Given the description of an element on the screen output the (x, y) to click on. 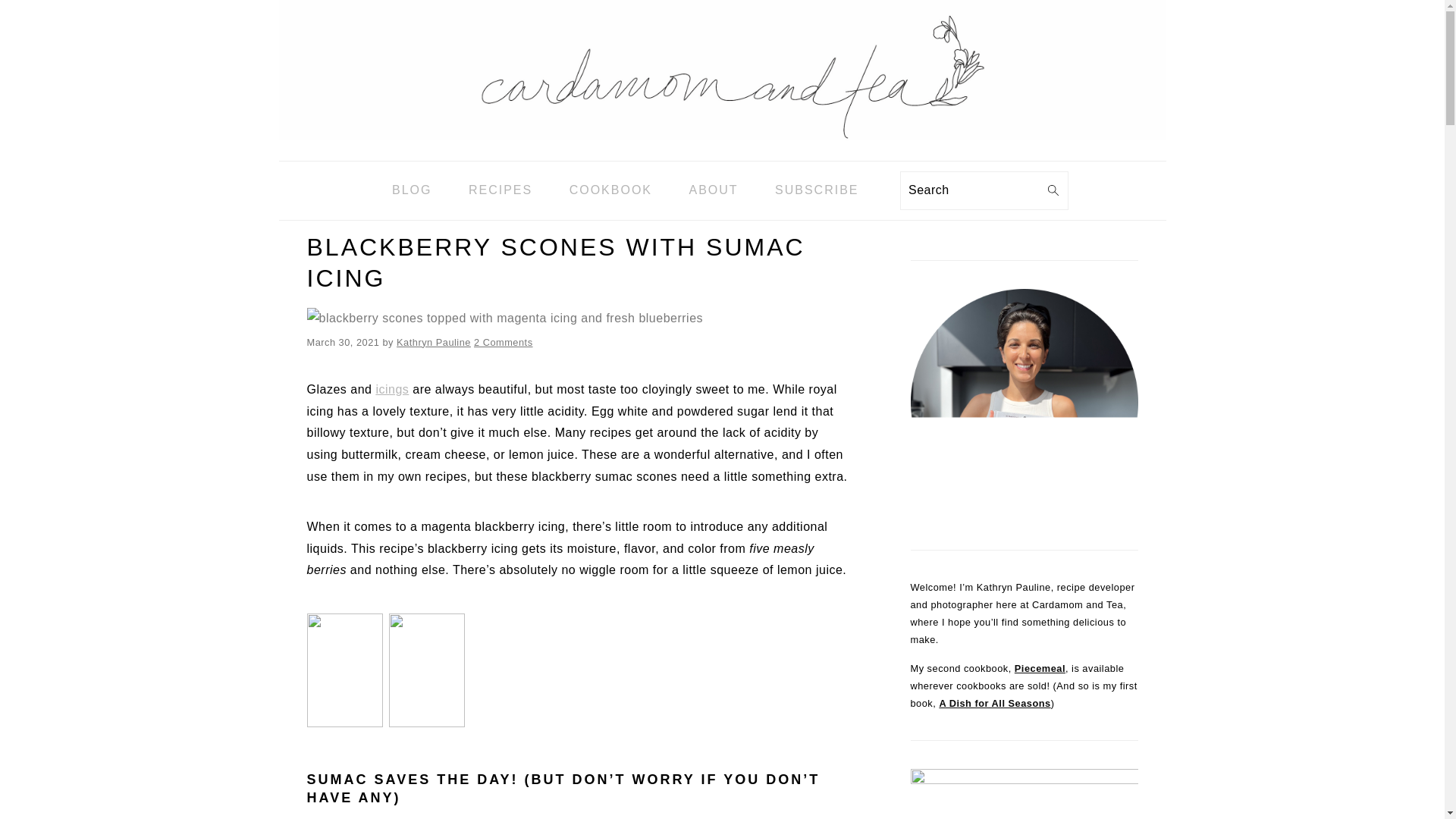
A Dish for All Seasons (994, 703)
BLOG (410, 190)
welcome! (1023, 402)
Piecemeal (1039, 668)
Kathryn Pauline (433, 342)
icings (392, 389)
2 Comments (503, 342)
RECIPES (500, 190)
Cardamom and Tea (722, 148)
Cardamom and Tea (722, 70)
